Given the description of an element on the screen output the (x, y) to click on. 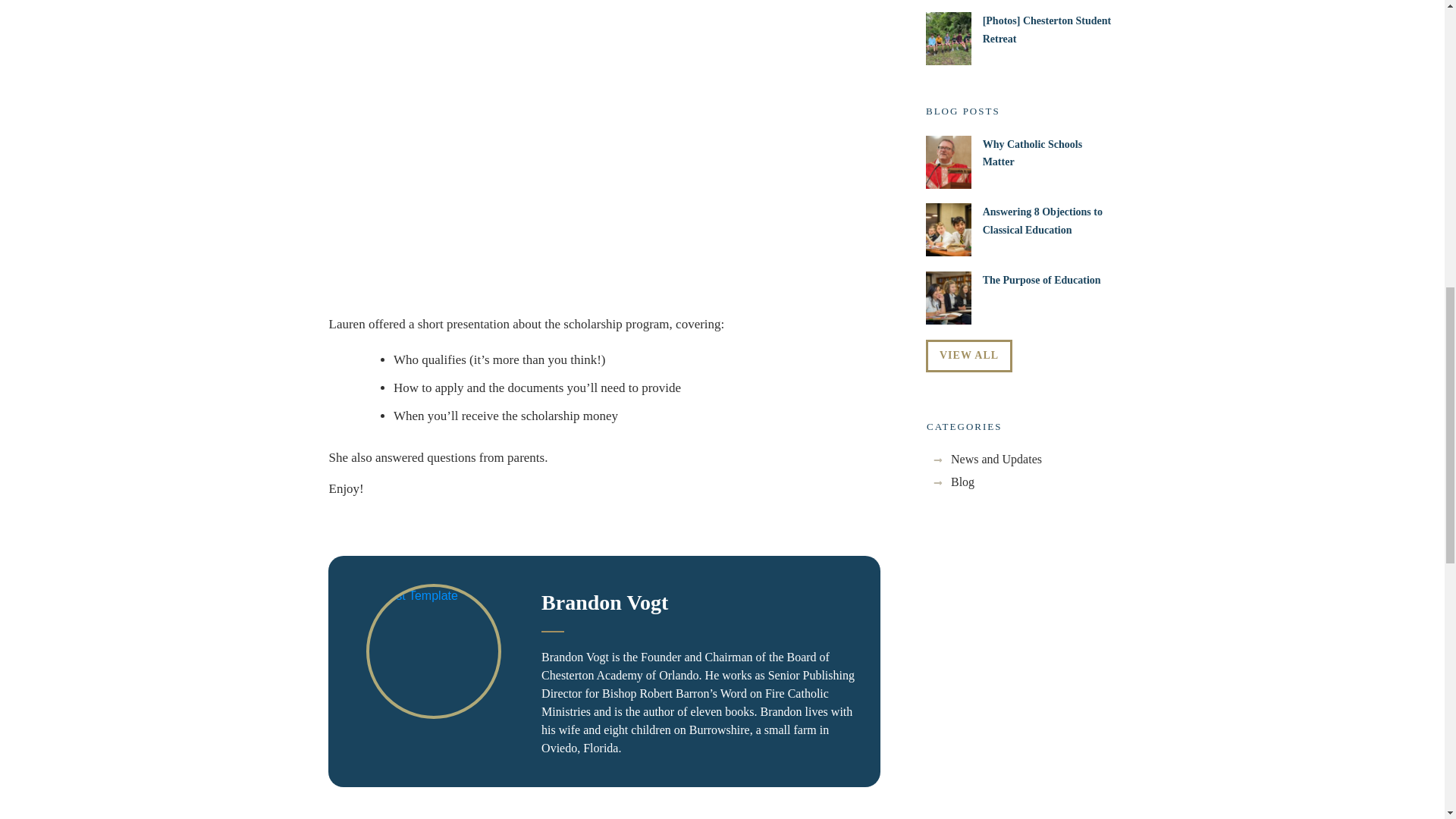
The Purpose of Education (1041, 279)
The Purpose of Education (1041, 279)
Post Template (433, 651)
Answering 8 Objections to Classical Education (1021, 231)
Why Catholic Schools Matter (1021, 163)
Answering 8 Objections to Classical Education (1042, 220)
Why Catholic Schools Matter (1031, 152)
Answering 8 Objections to Classical Education (1042, 220)
Why Catholic Schools Matter (1031, 152)
